Given the description of an element on the screen output the (x, y) to click on. 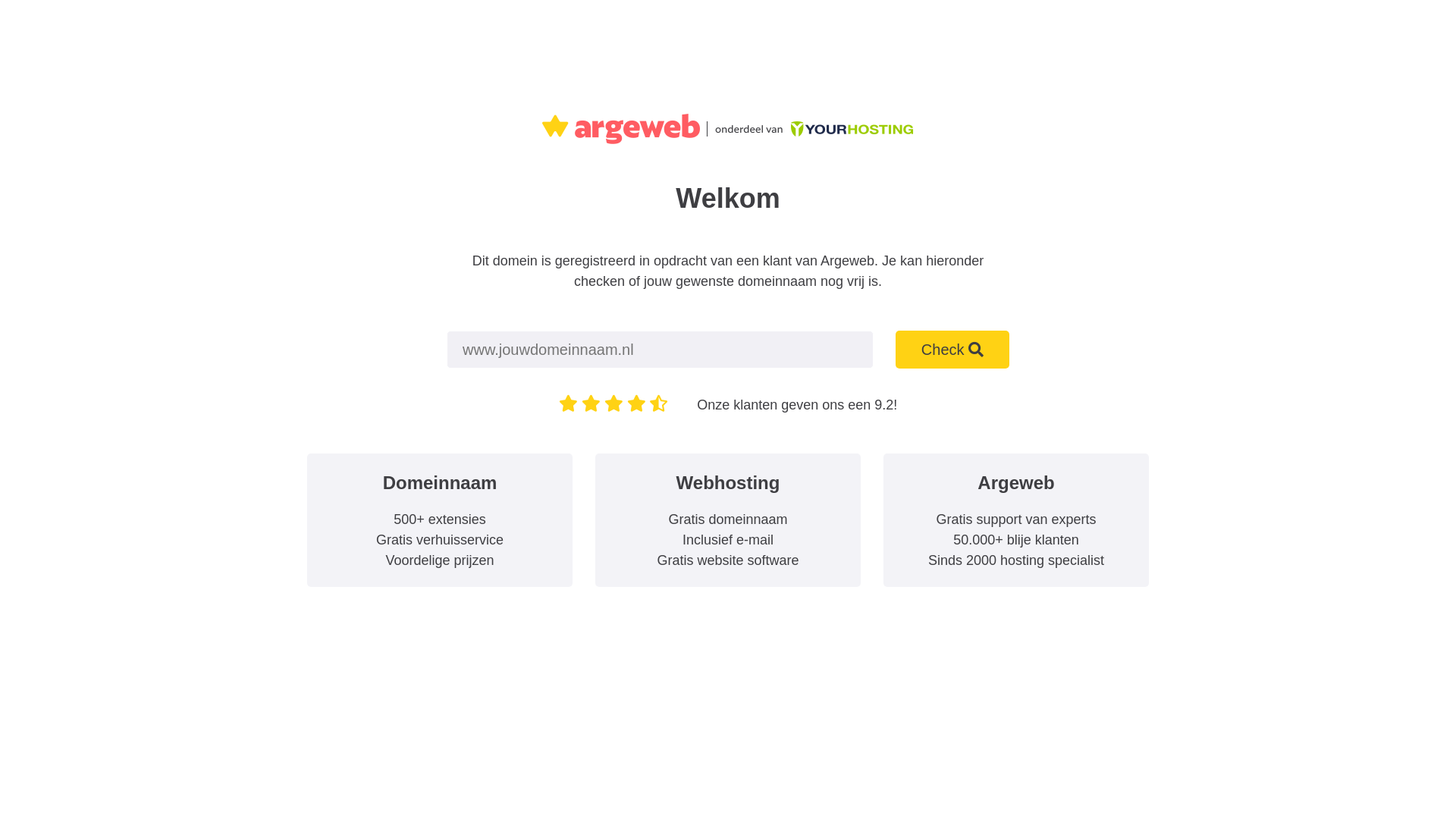
Check Element type: text (952, 349)
